Given the description of an element on the screen output the (x, y) to click on. 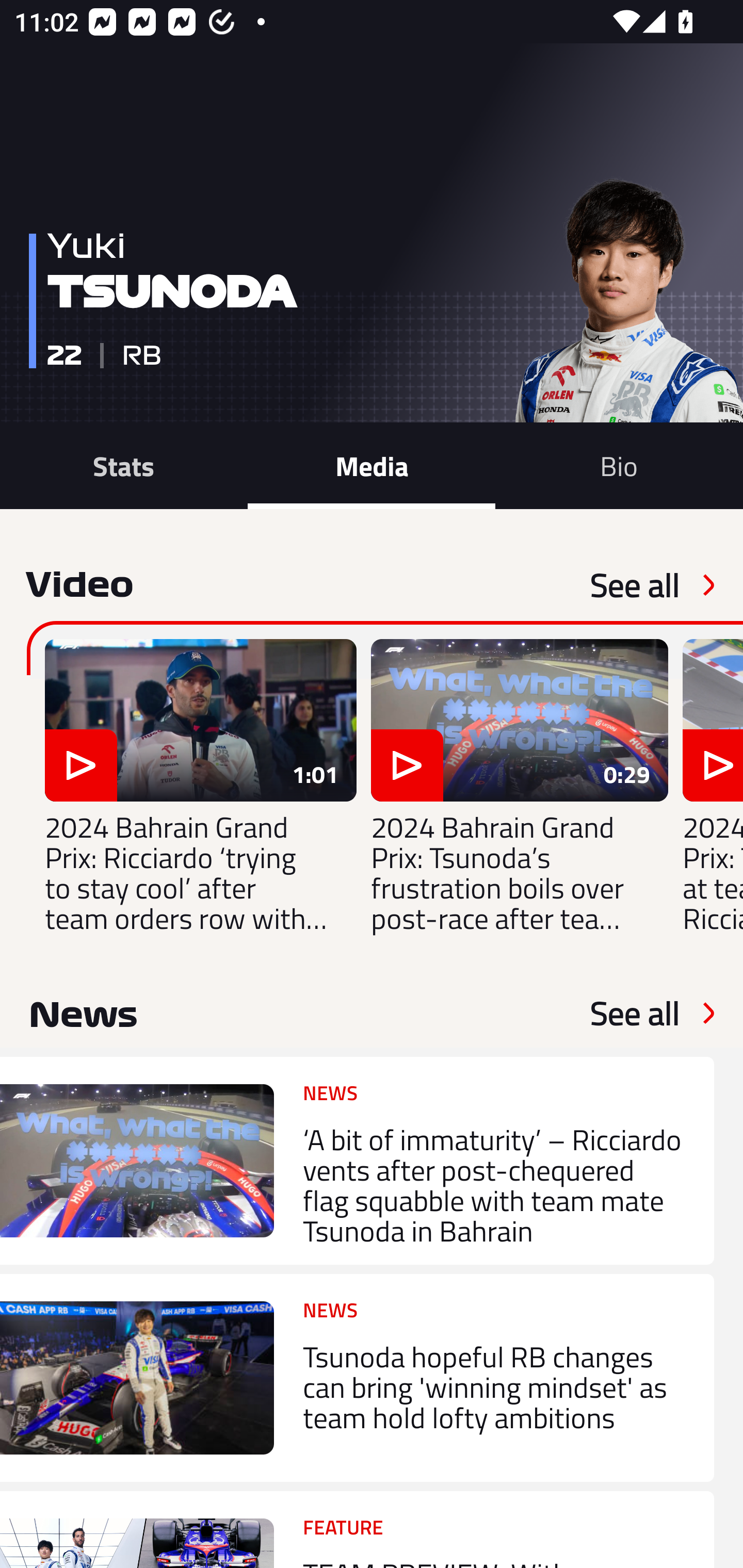
Stats (123, 465)
Bio (619, 465)
See all (634, 584)
See all (634, 1012)
